Given the description of an element on the screen output the (x, y) to click on. 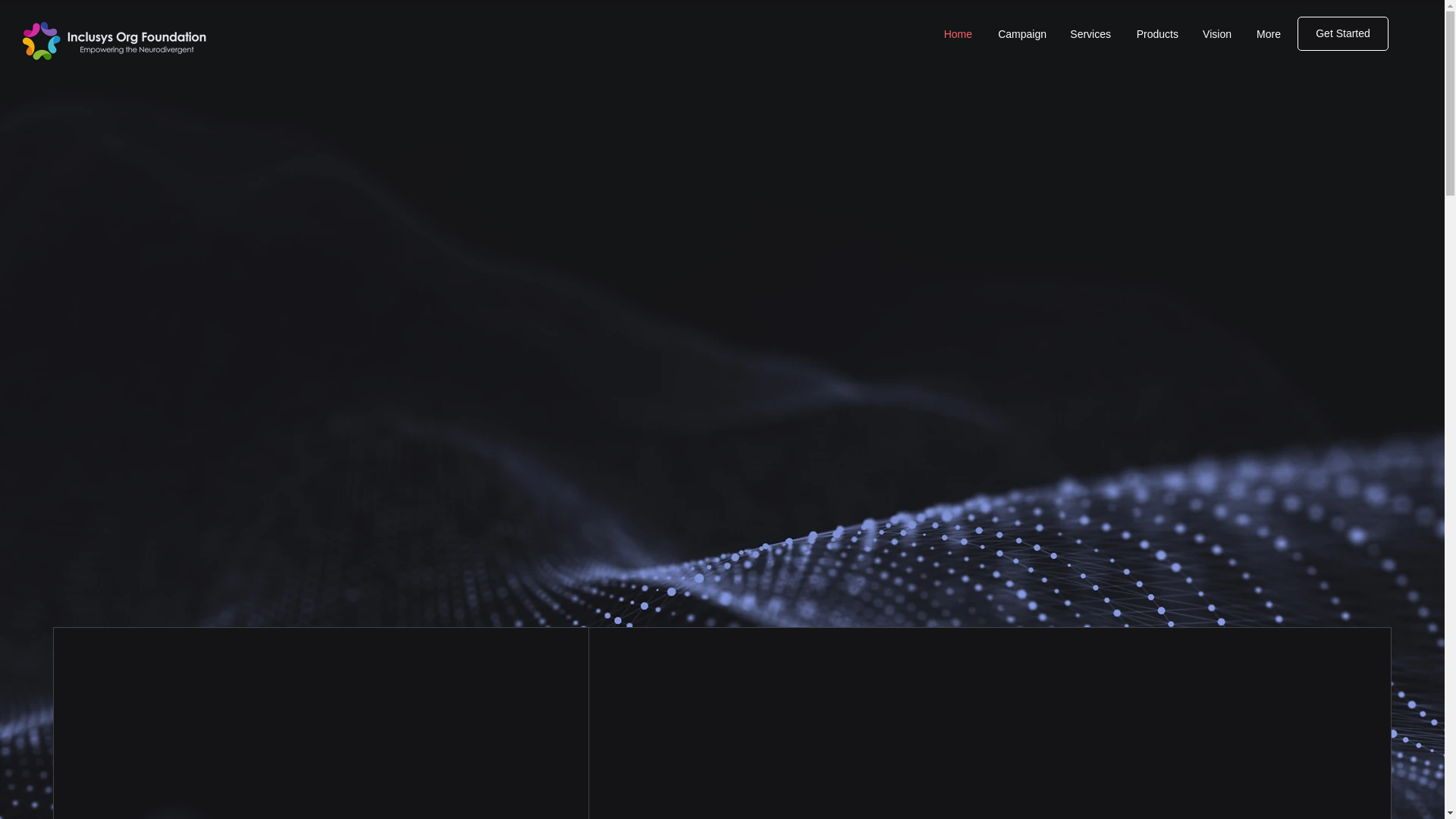
Inclusys Logo.png (114, 40)
Vision (1216, 34)
Home (957, 34)
Get Started (1343, 33)
Products (1155, 34)
Services (1090, 34)
Campaign (1021, 34)
